Given the description of an element on the screen output the (x, y) to click on. 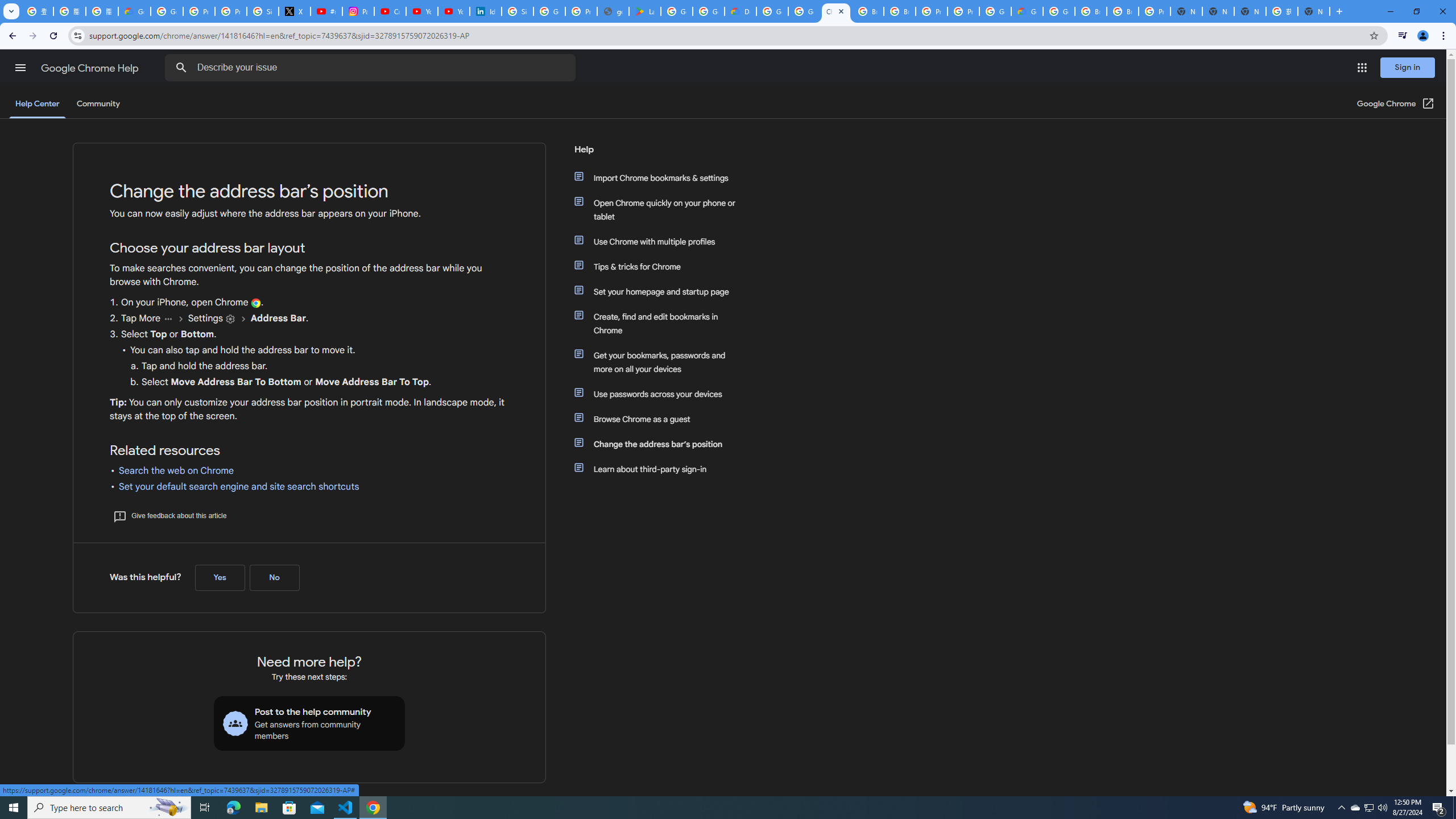
Browse Chrome as a guest - Computer - Google Chrome Help (1091, 11)
Set your homepage and startup page (661, 291)
Tips & tricks for Chrome (661, 266)
Use Chrome with multiple profiles (661, 241)
Help (656, 153)
Google Cloud Estimate Summary (1027, 11)
Help Center (36, 103)
YouTube Culture & Trends - YouTube Top 10, 2021 (453, 11)
#nbabasketballhighlights - YouTube (326, 11)
